Given the description of an element on the screen output the (x, y) to click on. 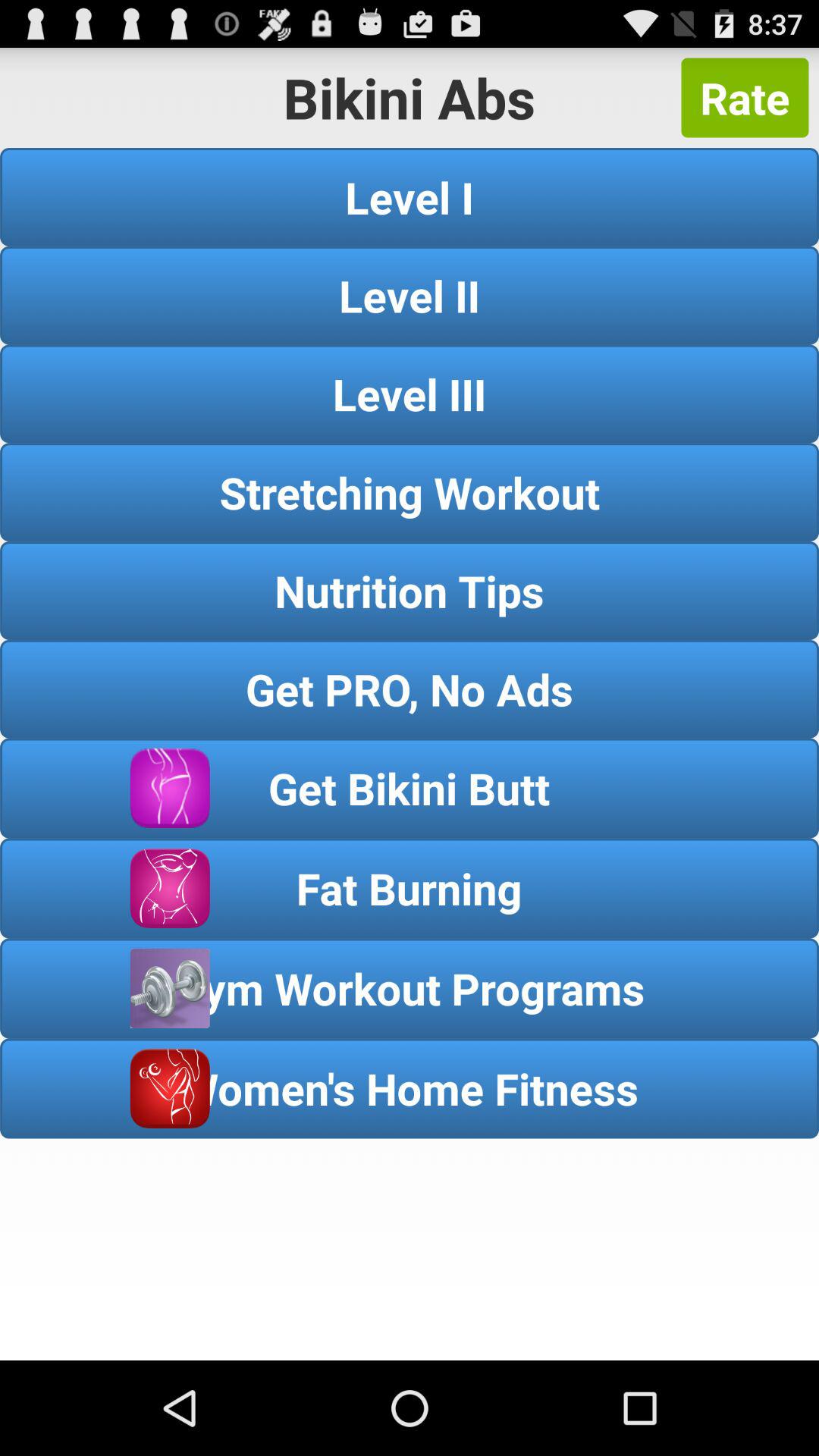
click the nutrition tips button (409, 590)
